Given the description of an element on the screen output the (x, y) to click on. 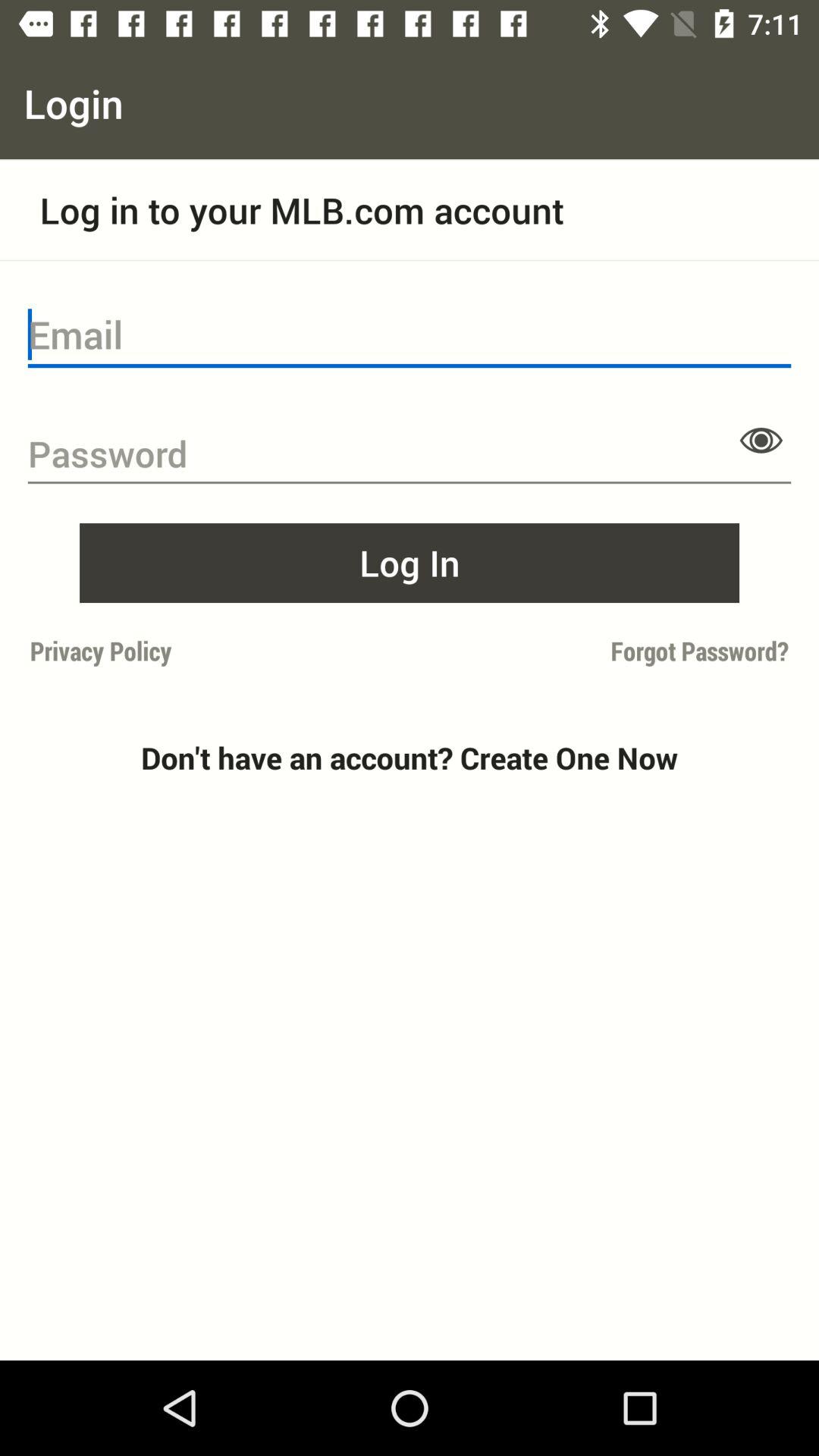
launch item next to the privacy policy item (604, 650)
